Given the description of an element on the screen output the (x, y) to click on. 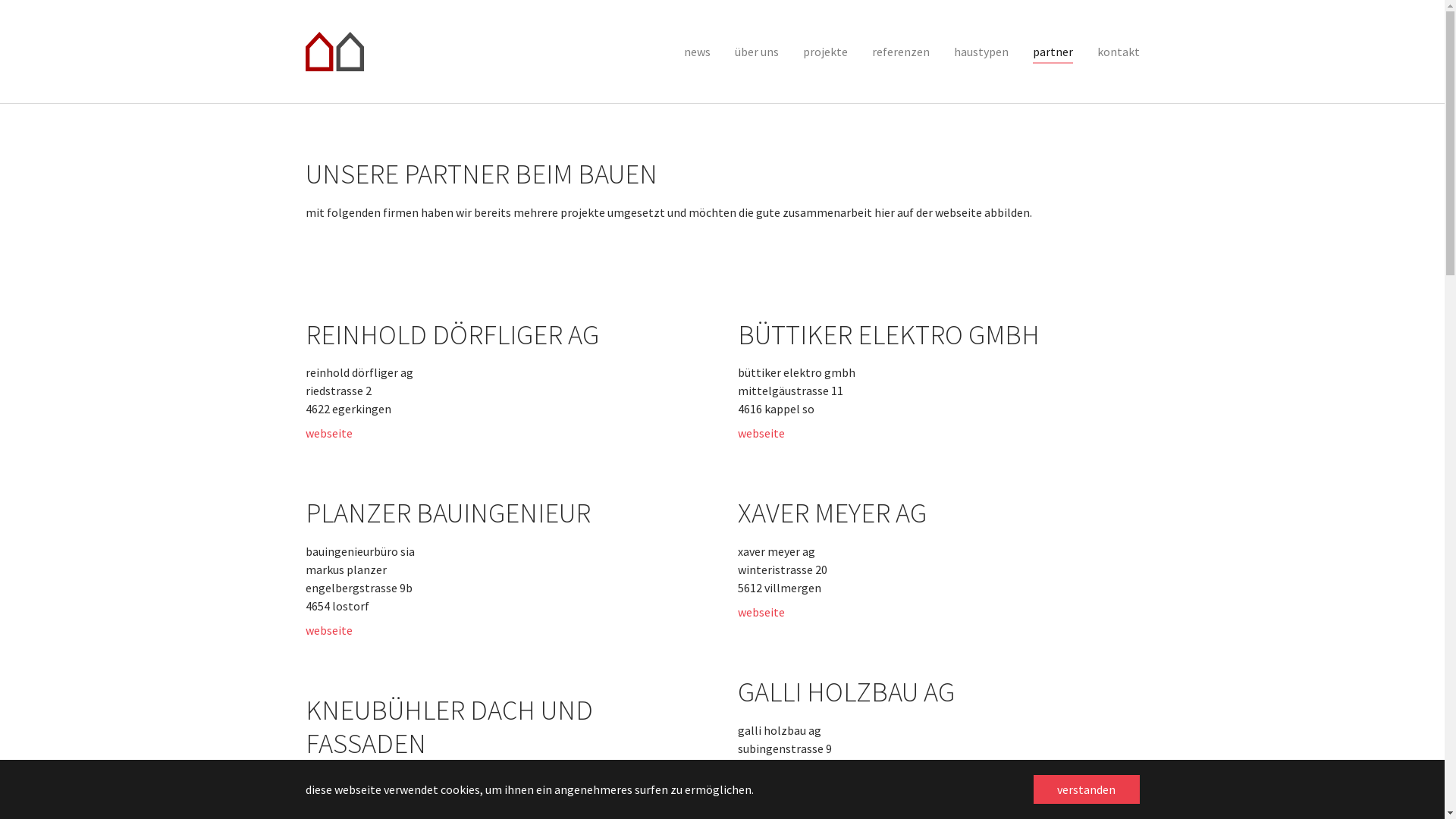
webseite Element type: text (760, 790)
partner
(current) Element type: text (1052, 51)
webseite Element type: text (327, 432)
abewositepackagebootstrap Element type: hover (334, 51)
news Element type: text (696, 51)
webseite Element type: text (760, 611)
webseite Element type: text (327, 629)
kontakt Element type: text (1117, 51)
haustypen Element type: text (980, 51)
referenzen Element type: text (900, 51)
verstanden Element type: text (1085, 789)
webseite Element type: text (760, 432)
projekte Element type: text (824, 51)
